Given the description of an element on the screen output the (x, y) to click on. 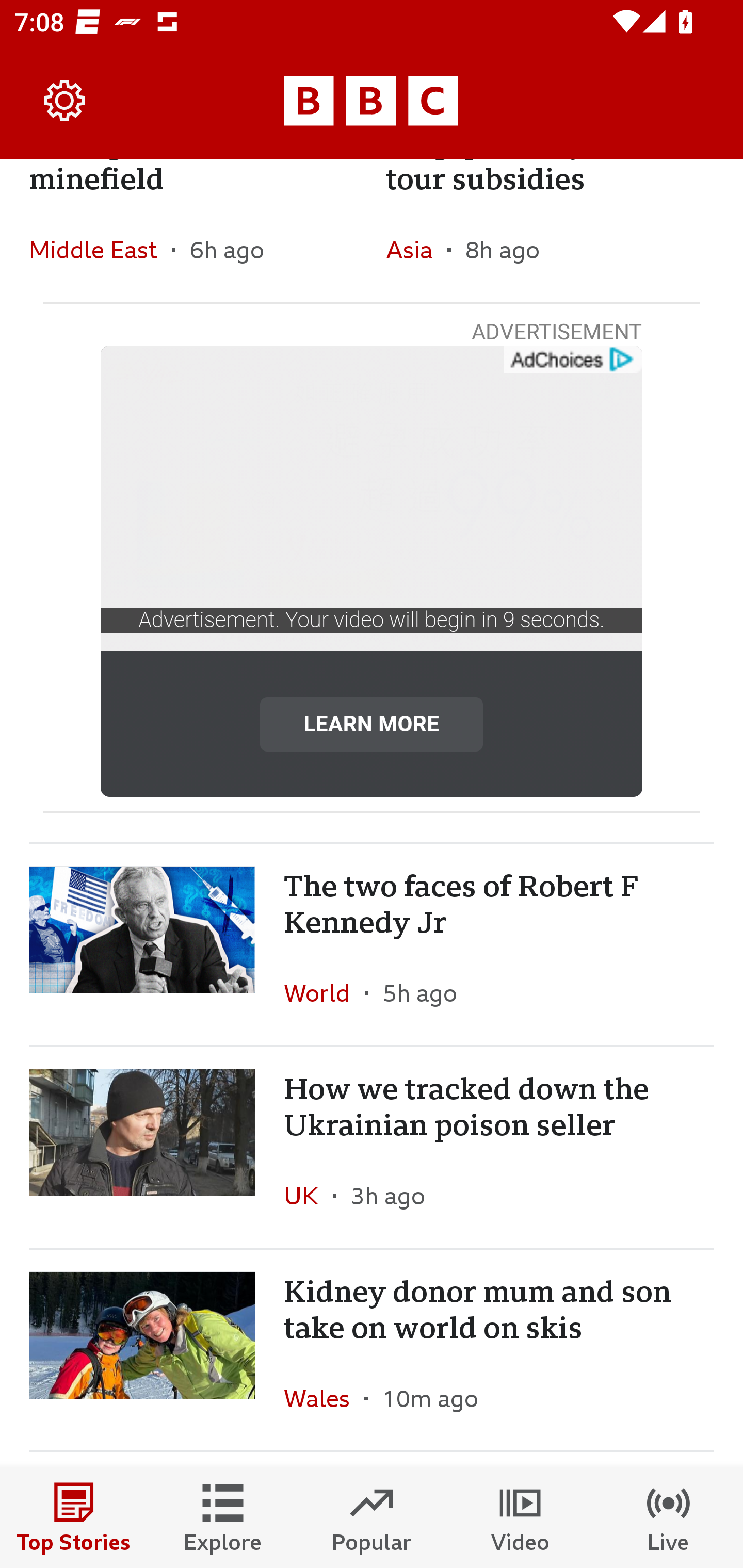
Settings (64, 100)
Middle East In the section Middle East (99, 249)
Asia In the section Asia (416, 249)
get?name=admarker-full-tl (571, 359)
LEARN MORE (371, 724)
World In the section World (323, 992)
UK In the section UK (307, 1195)
Wales In the section Wales (323, 1398)
Explore (222, 1517)
Popular (371, 1517)
Video (519, 1517)
Live (668, 1517)
